Given the description of an element on the screen output the (x, y) to click on. 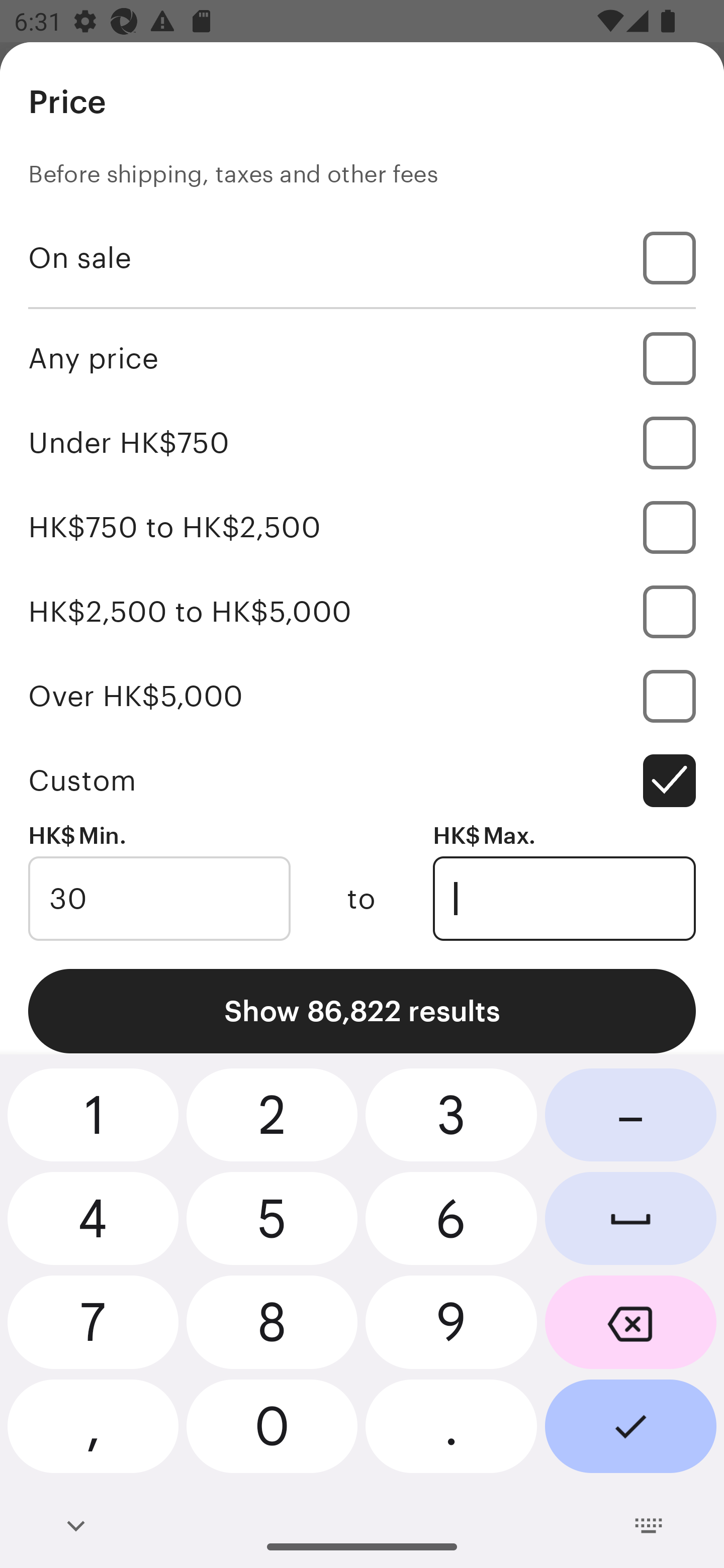
On sale (362, 257)
Any price (362, 357)
Under HK$750 (362, 441)
HK$750 to HK$2,500 (362, 526)
HK$2,500 to HK$5,000 (362, 611)
Over HK$5,000 (362, 695)
Custom (362, 780)
30 (159, 898)
Show 86,822 results (361, 1011)
